Given the description of an element on the screen output the (x, y) to click on. 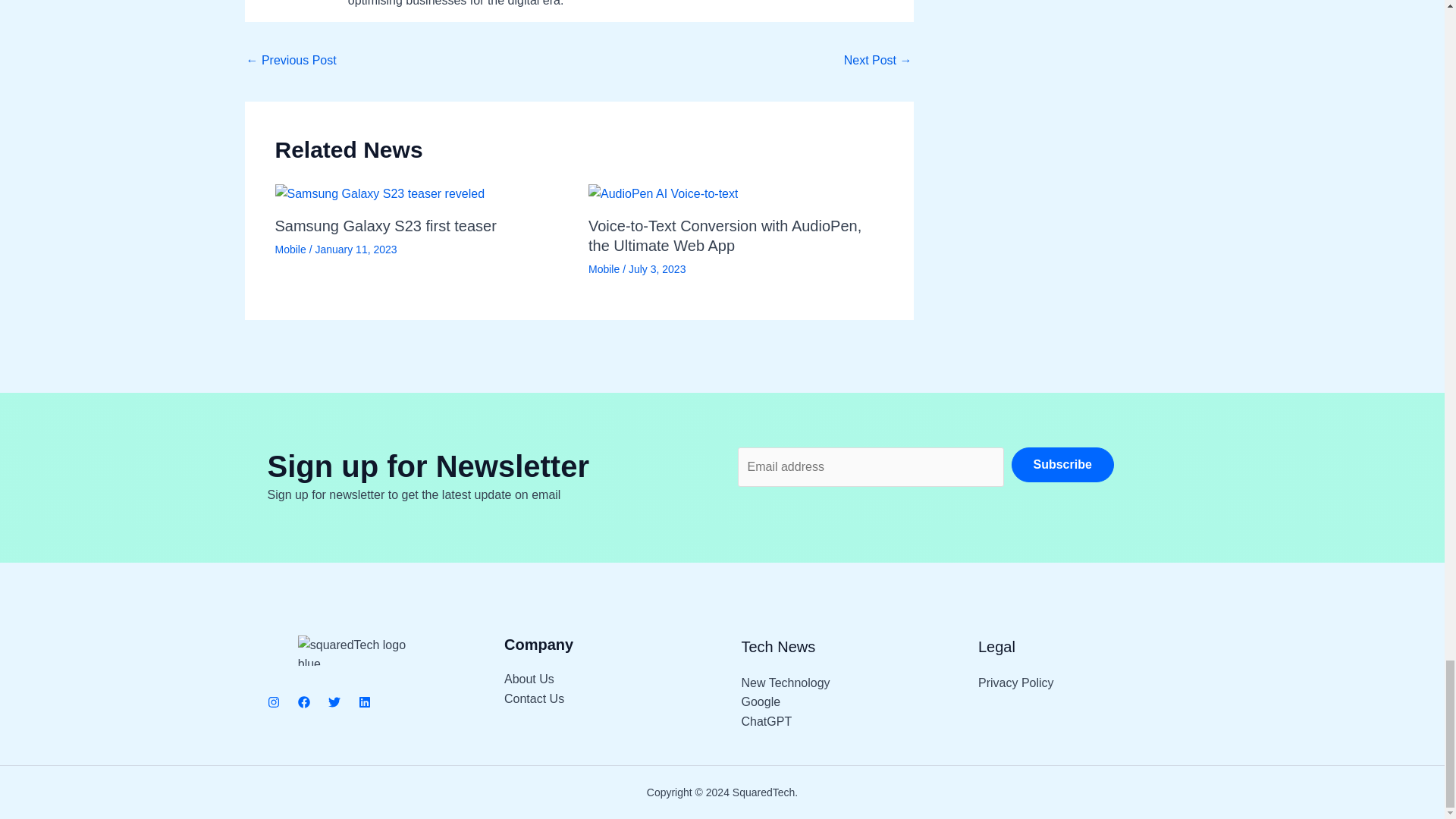
Discord Add Parental Controls for Teens (878, 61)
Voice-to-Text Conversion with AudioPen, the Ultimate Web App (724, 235)
Samsung Galaxy S23 first teaser (385, 225)
Mobile (290, 249)
cropped-SquaredTech-logo.png (361, 650)
